Given the description of an element on the screen output the (x, y) to click on. 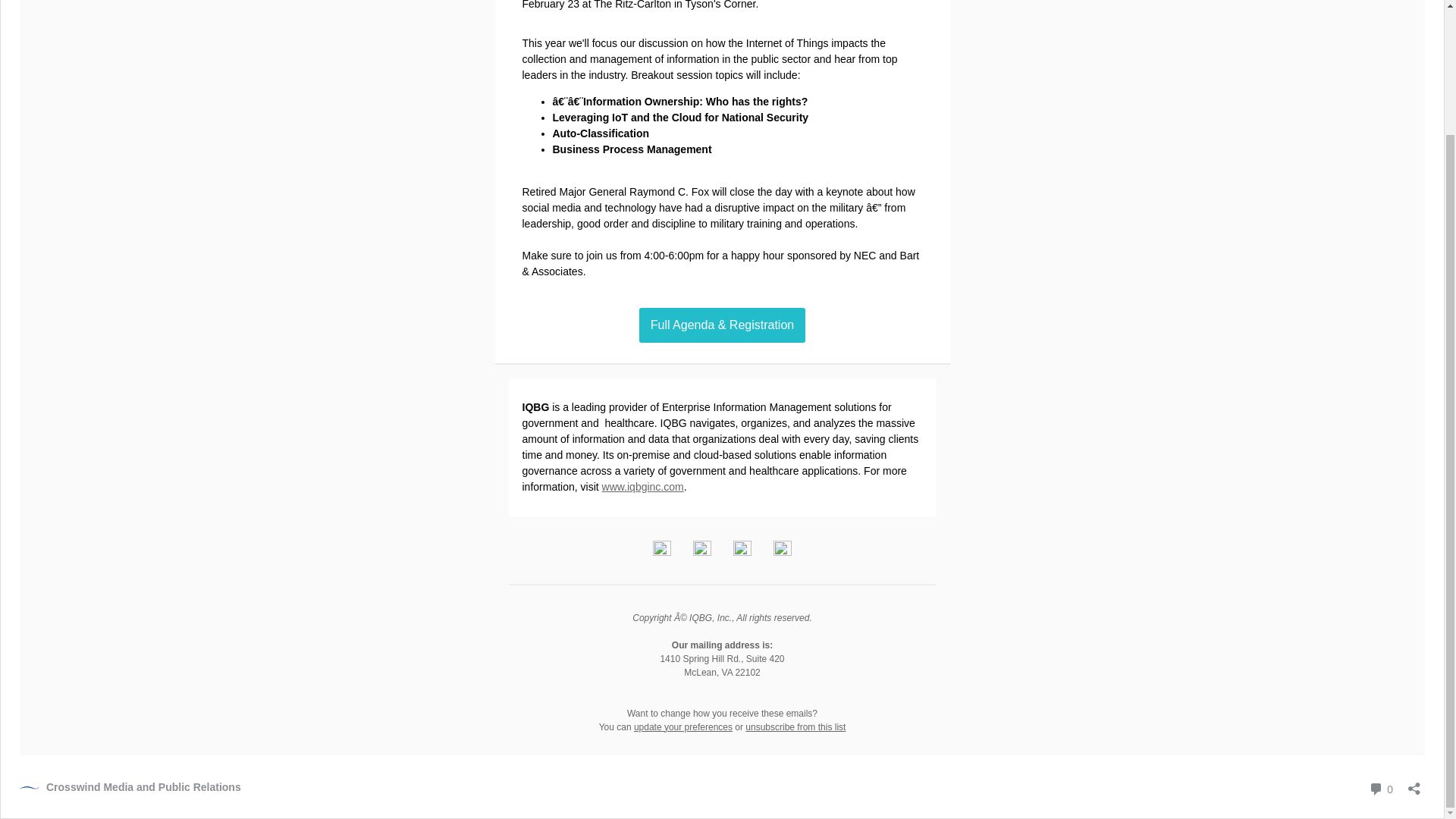
Crosswind Media and Public Relations (130, 787)
unsubscribe from this list (795, 726)
www.iqbginc.com (1380, 788)
update your preferences (643, 486)
